Given the description of an element on the screen output the (x, y) to click on. 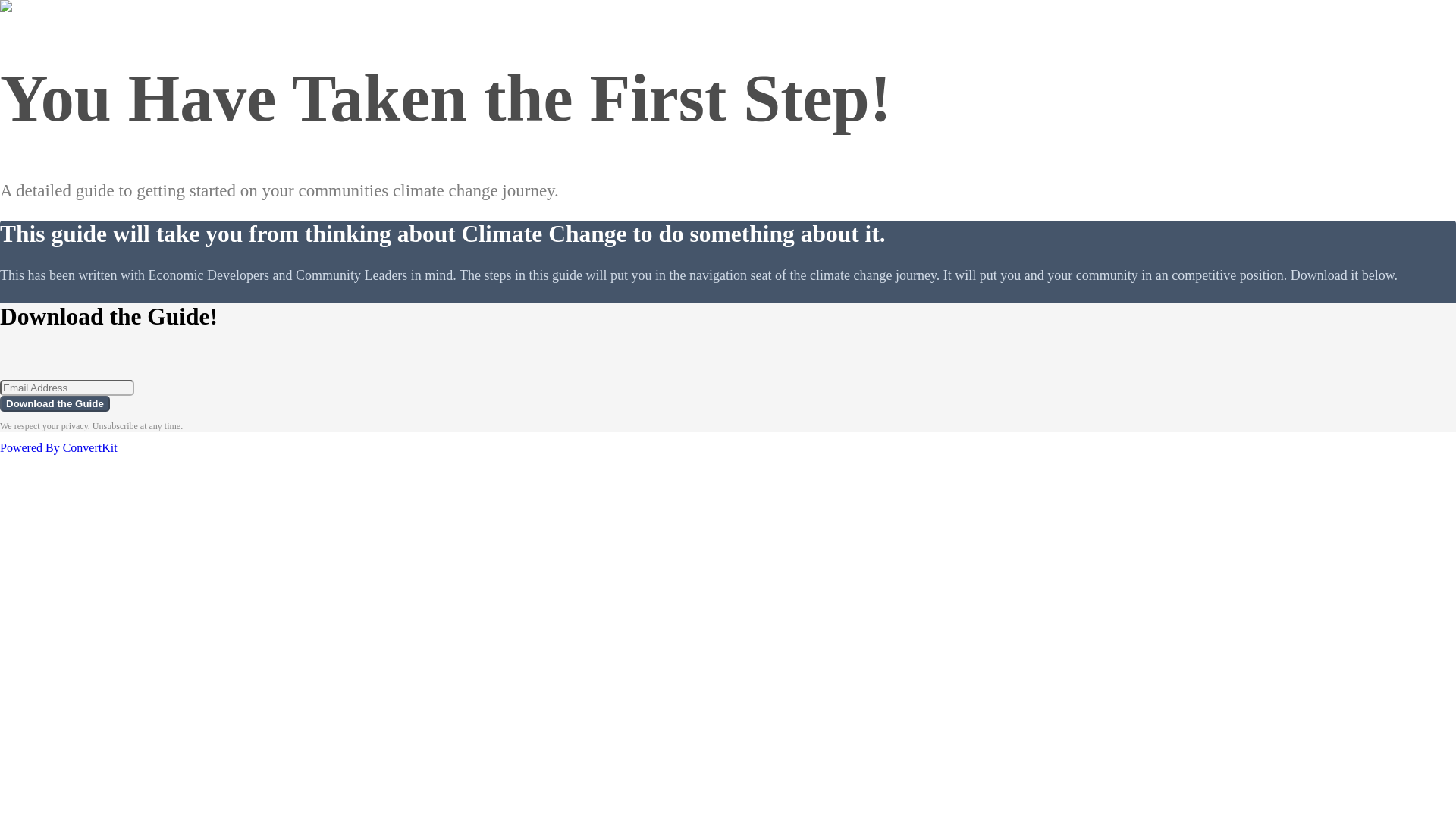
Download the Guide (55, 403)
Powered By ConvertKit (58, 447)
